Given the description of an element on the screen output the (x, y) to click on. 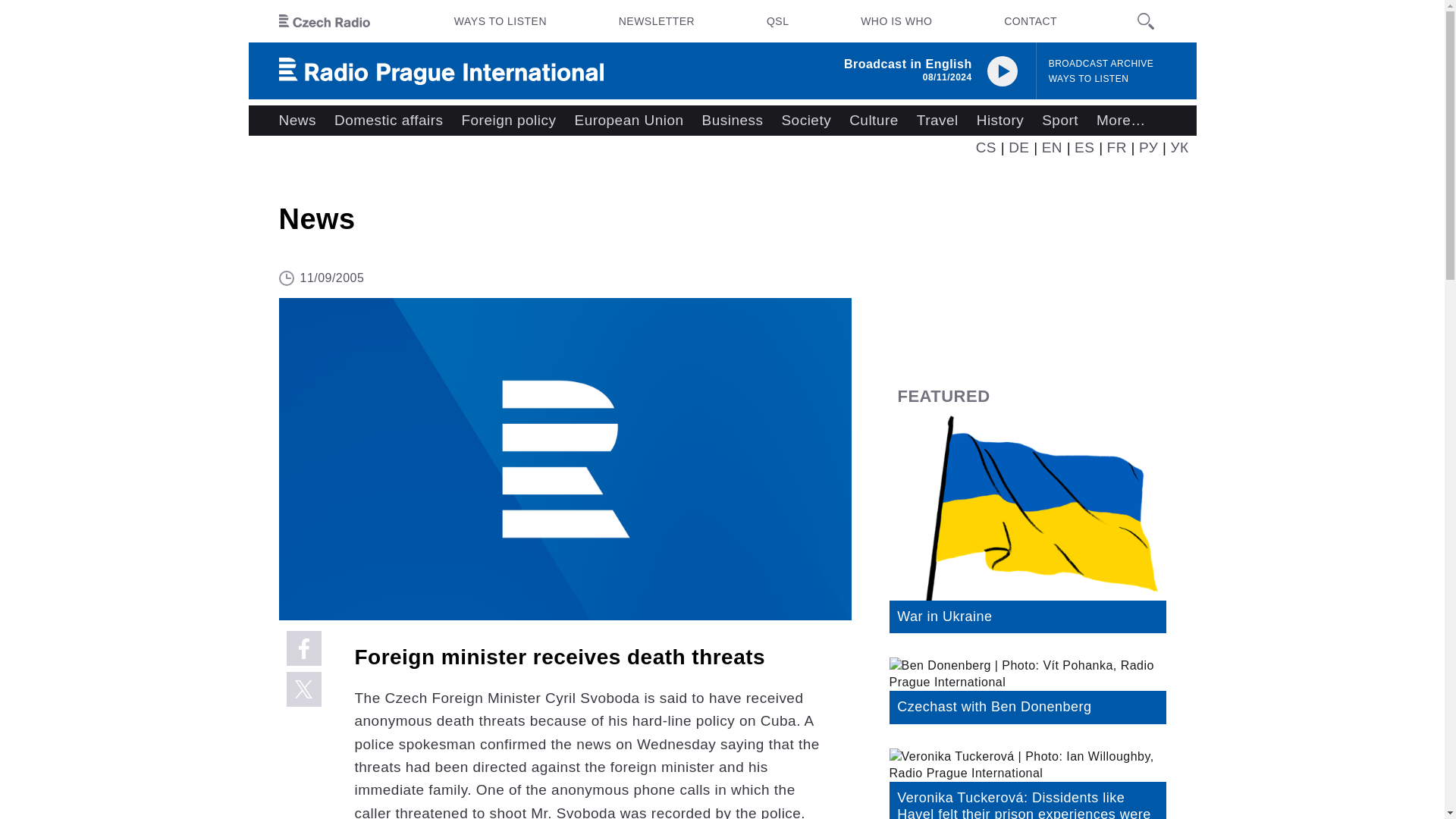
WAYS TO LISTEN (1088, 78)
WHO IS WHO (896, 21)
Society (805, 120)
Travel (937, 120)
Sport (1059, 120)
Business (733, 120)
Culture (873, 120)
BROADCAST ARCHIVE (1101, 63)
Czech Radio (324, 21)
